Given the description of an element on the screen output the (x, y) to click on. 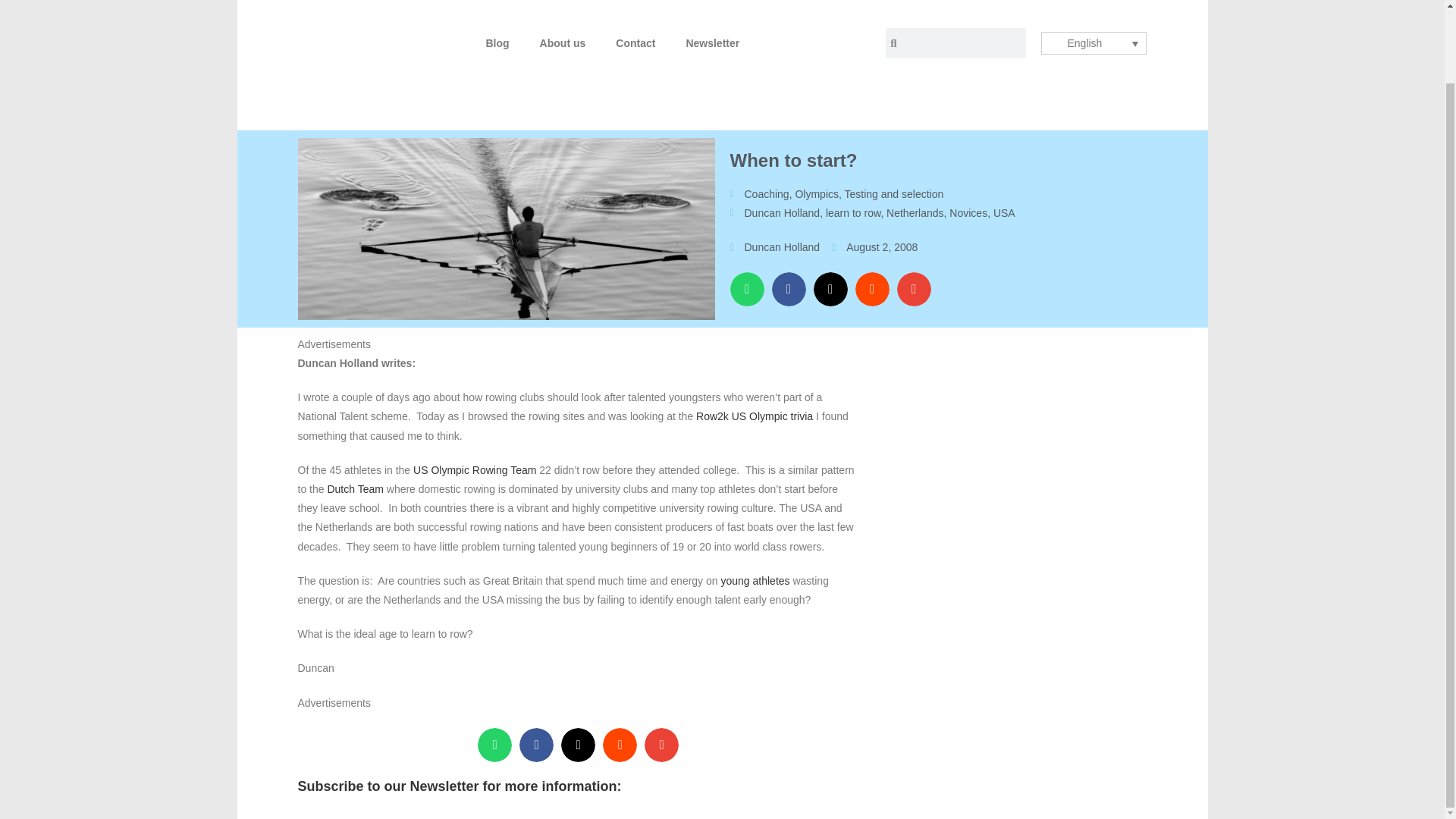
Dutch Team (354, 489)
young athletes (754, 580)
Blog (497, 42)
US Olympic Rowing Team (474, 469)
About us (562, 42)
US Olympic trivia (772, 416)
Duncan Holland (782, 213)
Newsletter (711, 42)
English (1094, 42)
August 2, 2008 (874, 247)
